Given the description of an element on the screen output the (x, y) to click on. 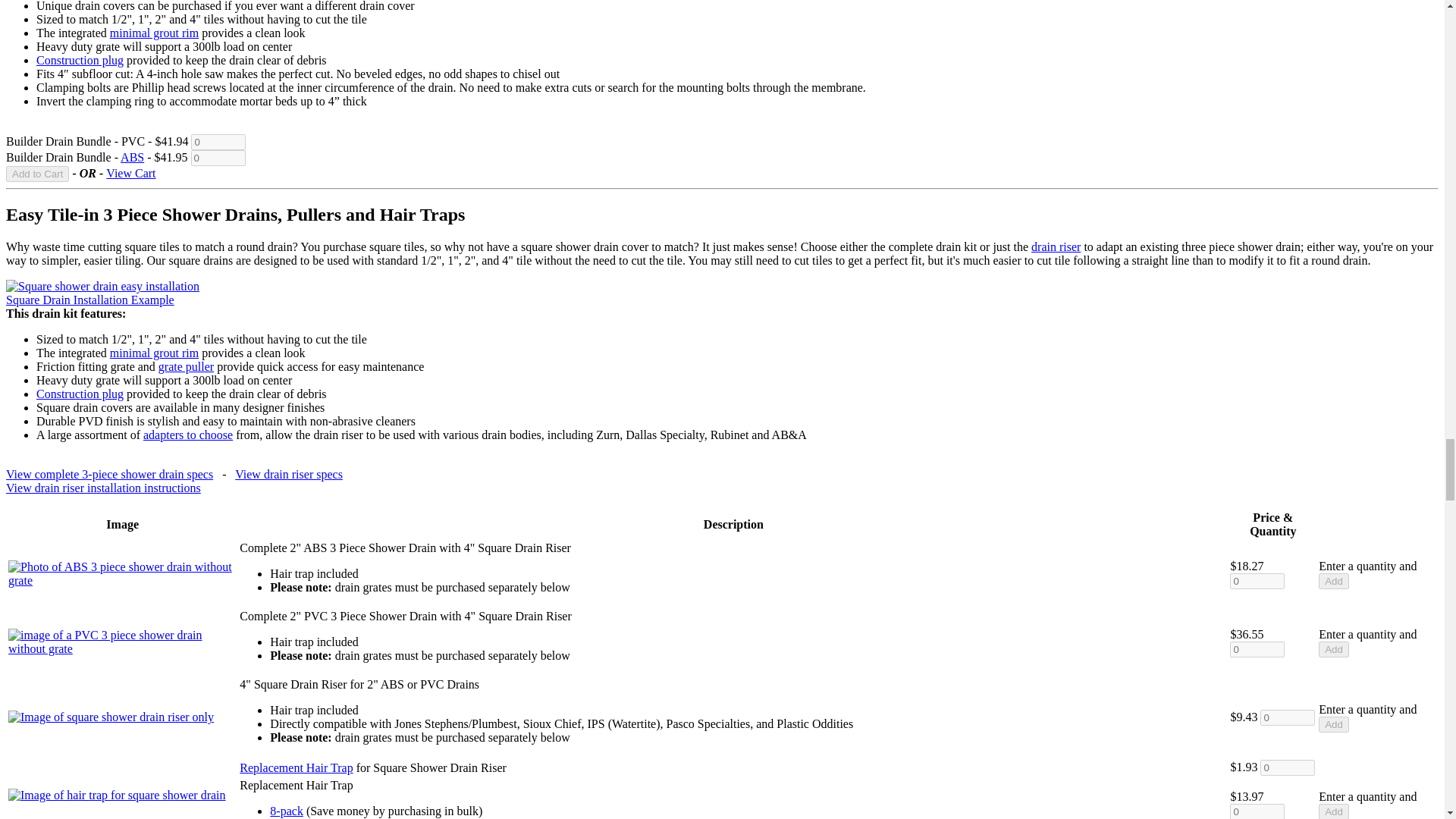
Add to Cart (36, 173)
Click here to add items to your shopping cart (36, 173)
Add (1334, 649)
Click here to view items already in your shopping cart (130, 173)
Learn more about the grout rim in our FAQ's (154, 32)
Ebbe Square Shower Drain ABS Builder Bundle (132, 156)
Add (1334, 724)
Add (1334, 811)
Learn more about the construction plug in our FAQ's (79, 60)
Add (1334, 580)
Go to drain risers on this page (1055, 246)
